Given the description of an element on the screen output the (x, y) to click on. 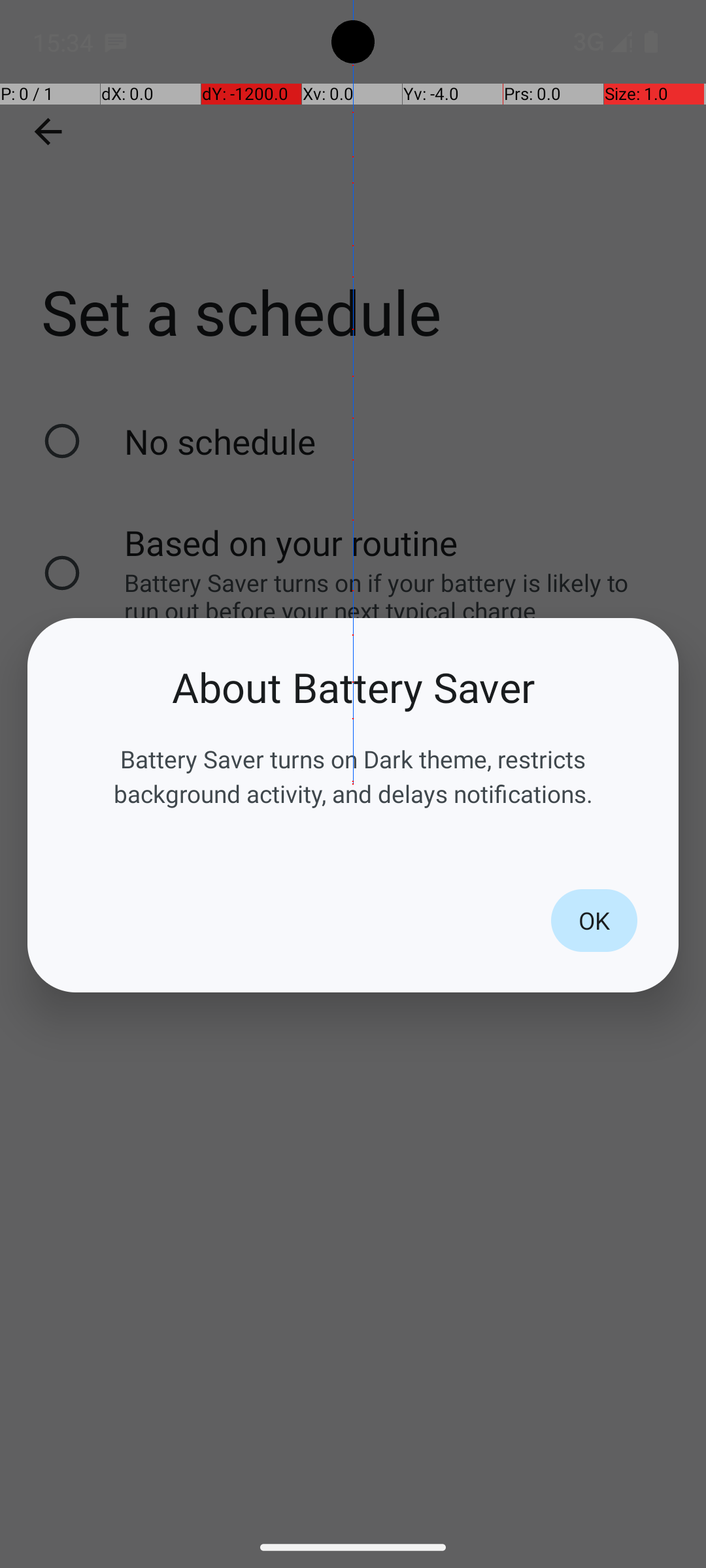
About Battery Saver Element type: android.widget.TextView (352, 686)
Battery Saver turns on Dark theme, restricts background activity, and delays notifications. Element type: android.widget.TextView (352, 776)
